Given the description of an element on the screen output the (x, y) to click on. 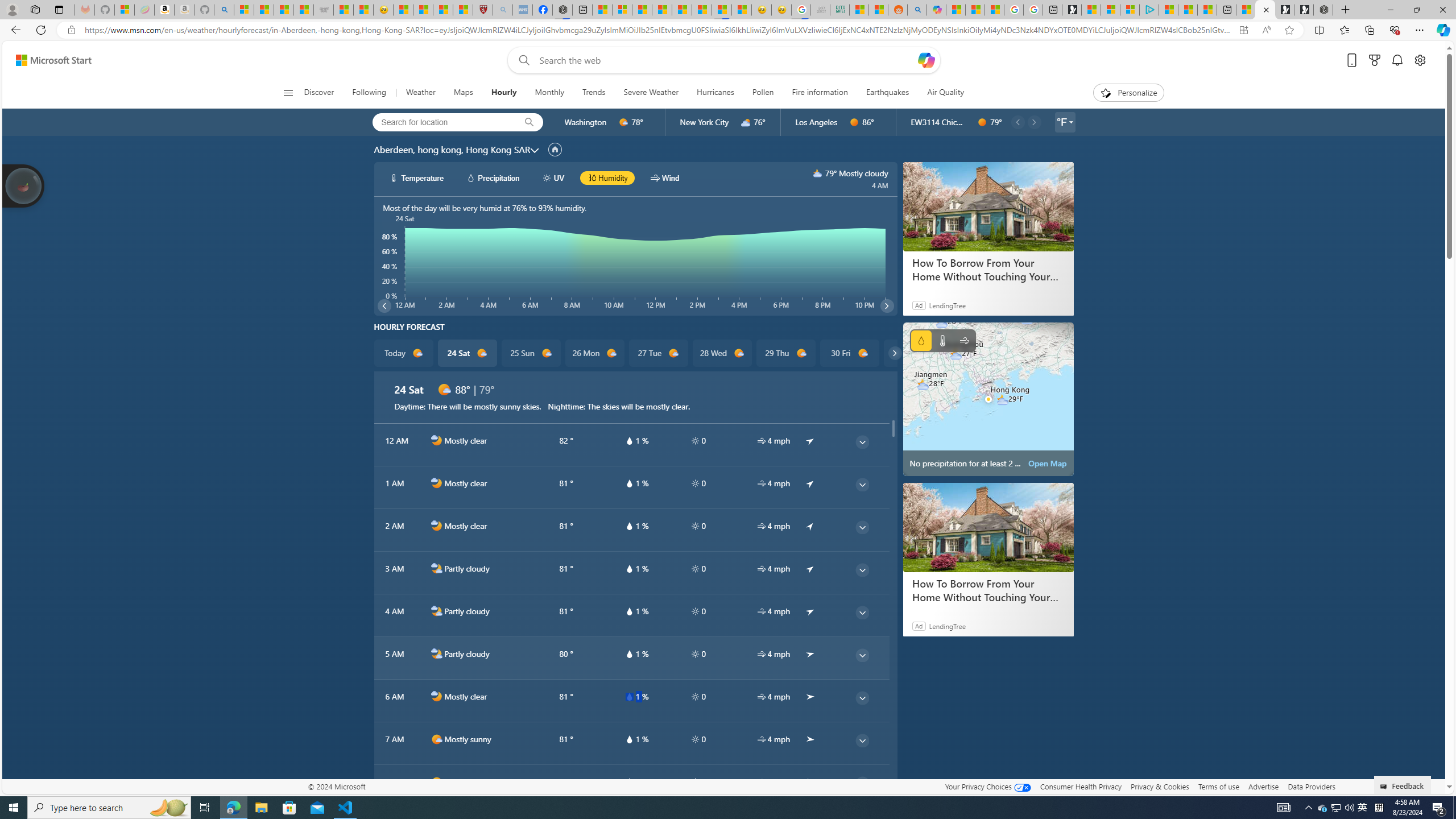
locationName/setHomeLocation (555, 149)
31 Sat d1000 (913, 352)
No precipitation for at least 2 hours (988, 398)
common/thinArrow (861, 783)
Earthquakes (888, 92)
d1000 (436, 781)
Trends (593, 92)
Data Providers (1311, 785)
hourlyTable/drop (628, 782)
